Given the description of an element on the screen output the (x, y) to click on. 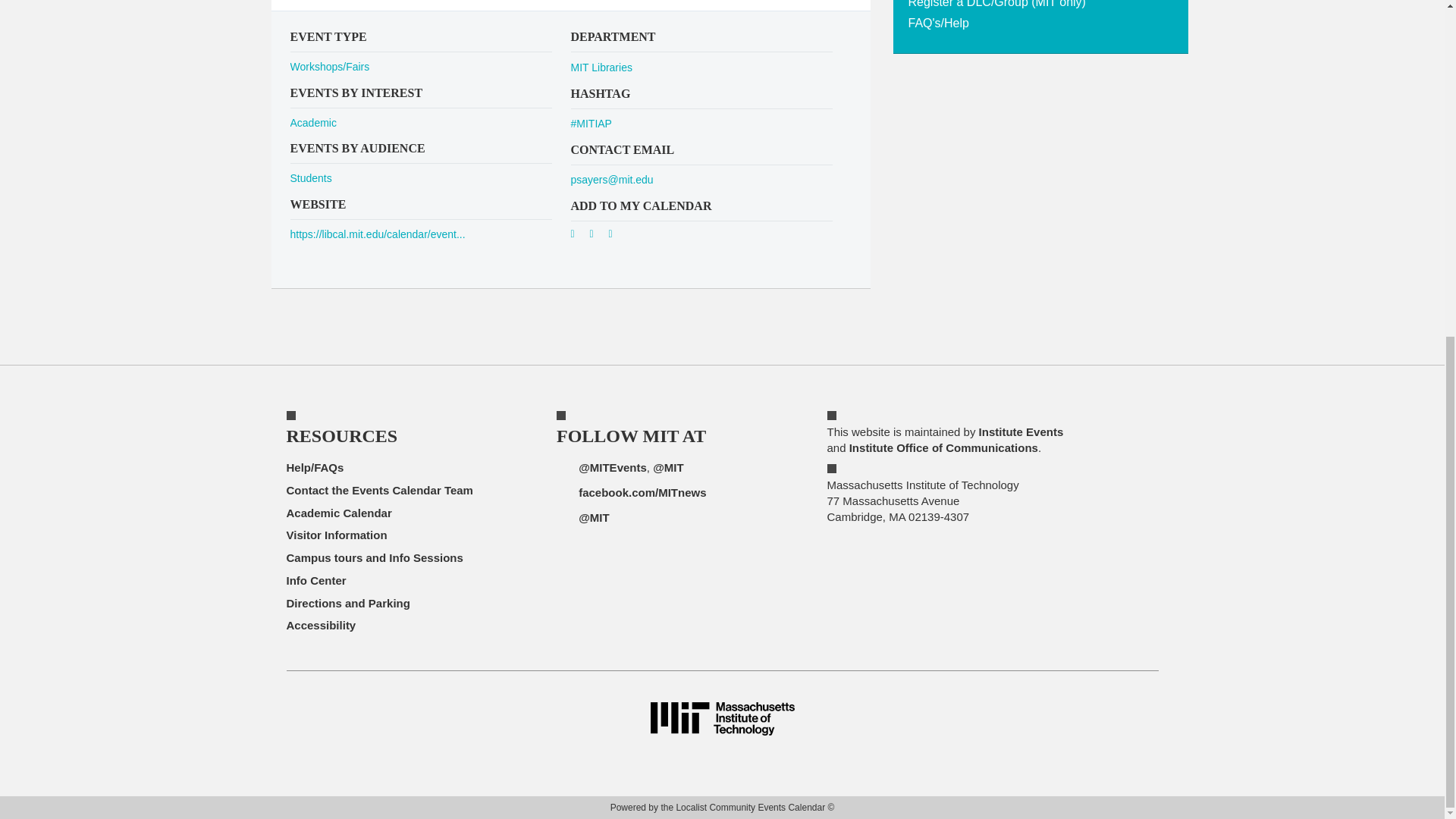
Campus tours and Info Sessions (374, 557)
Contact the Events Calendar Team (379, 490)
Academic Calendar (338, 512)
Academic (312, 122)
Students (310, 177)
Save to Outlook (615, 236)
MIT Libraries (600, 67)
Visitor Information (336, 534)
Save to iCal (597, 236)
Info Center (316, 580)
Save to Google Calendar (577, 236)
